Given the description of an element on the screen output the (x, y) to click on. 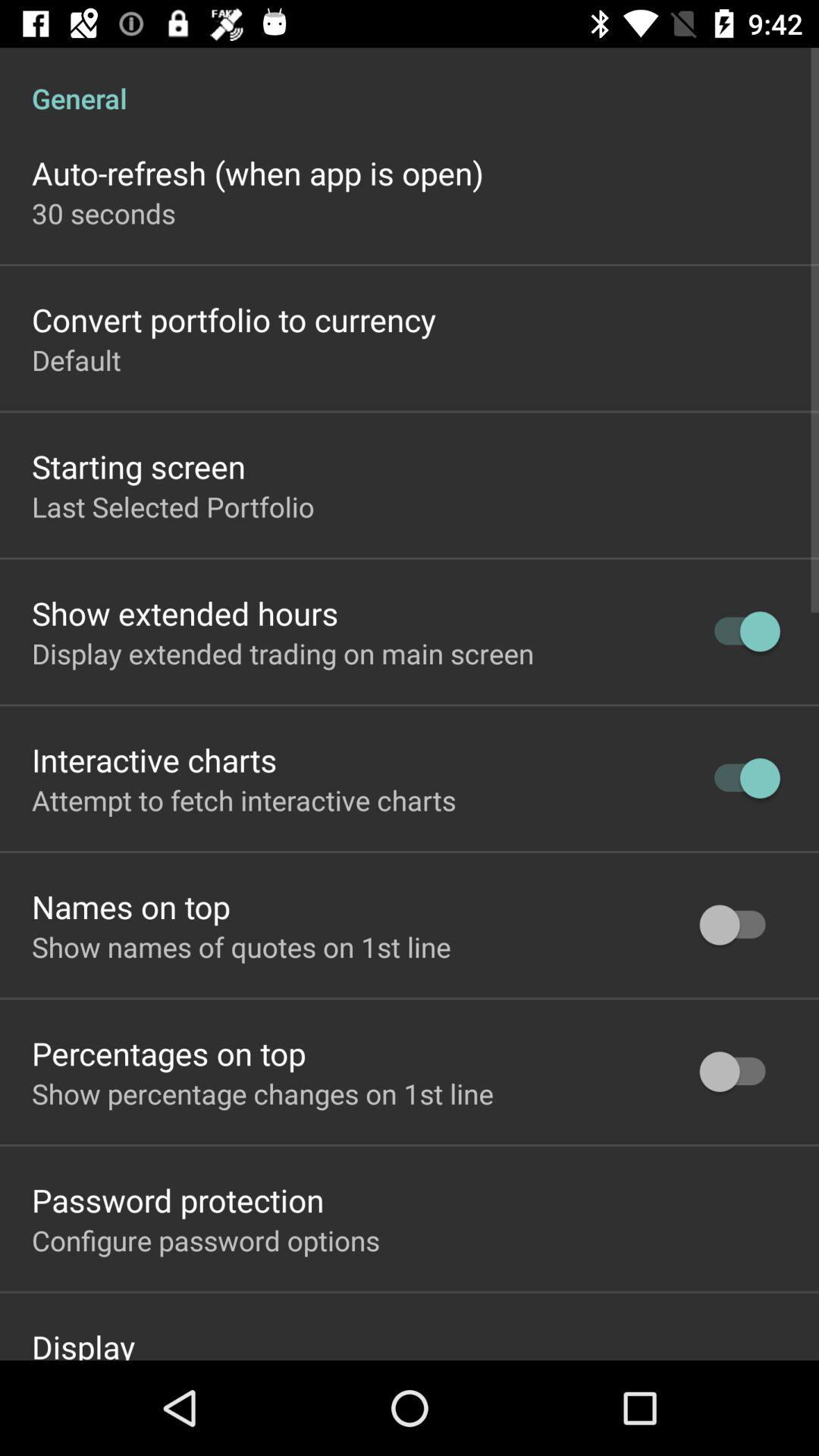
click item above password protection app (262, 1093)
